Given the description of an element on the screen output the (x, y) to click on. 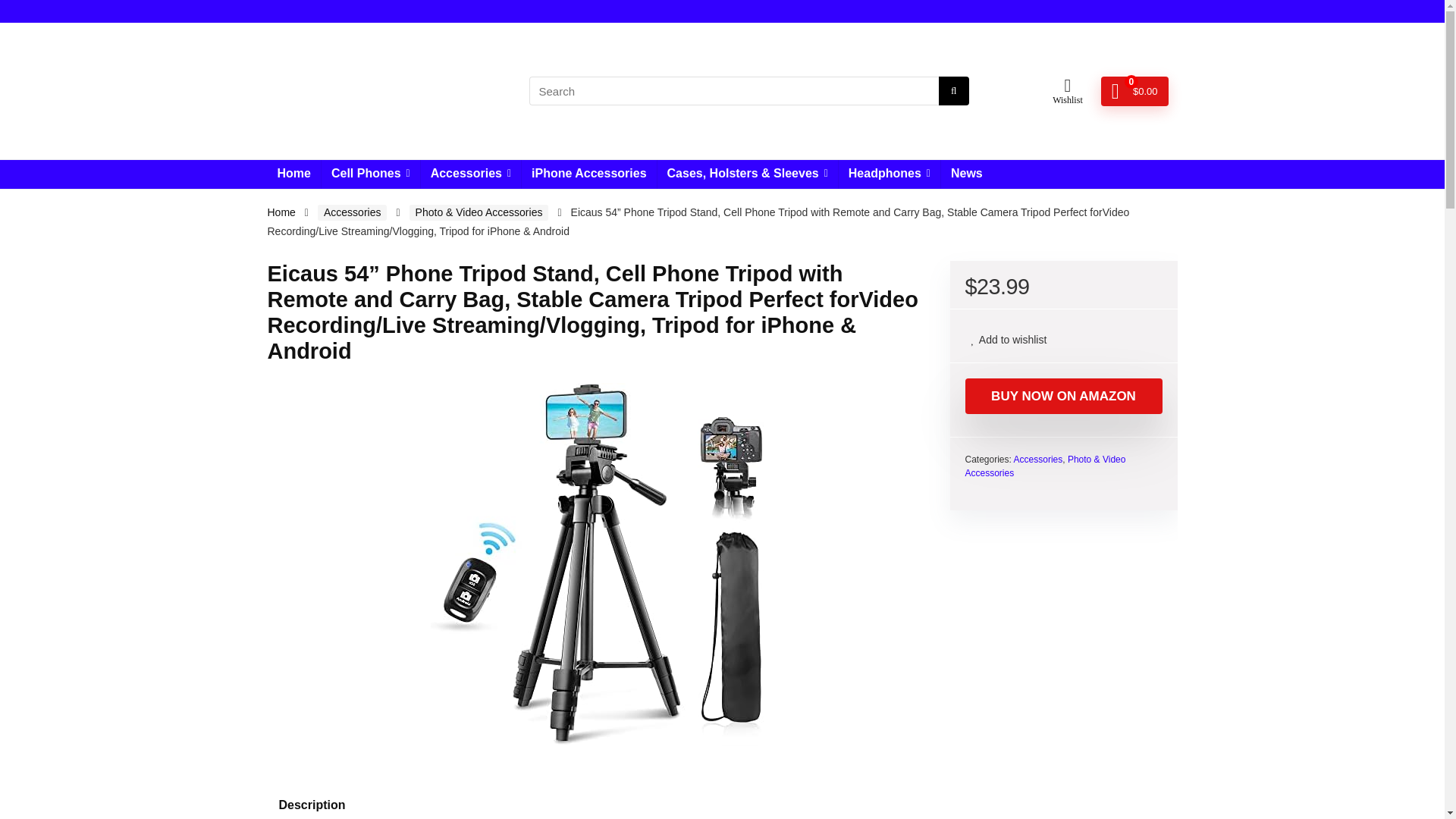
iPhone Accessories (588, 174)
Accessories (470, 174)
Headphones (889, 174)
Description (721, 801)
Home (293, 174)
News (966, 174)
Home (280, 212)
Cell Phones (370, 174)
